Given the description of an element on the screen output the (x, y) to click on. 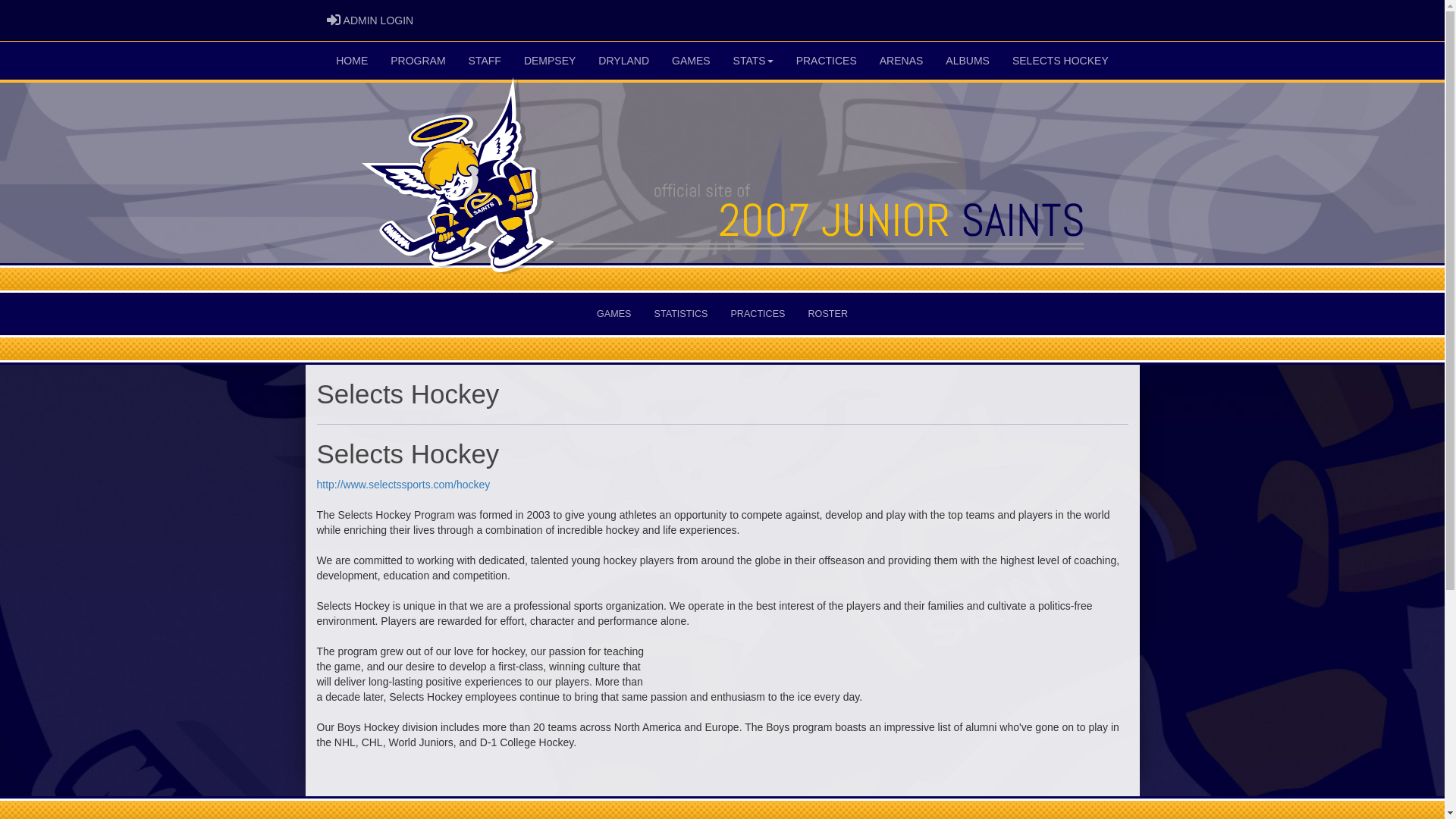
ROSTER Element type: text (827, 313)
DRYLAND Element type: text (623, 60)
STATISTICS Element type: text (681, 313)
ALBUMS Element type: text (967, 60)
HOME Element type: text (351, 60)
STATS Element type: text (752, 60)
Login Page Element type: hover (333, 19)
http://www.selectssports.com/hockey Element type: text (403, 484)
STAFF Element type: text (484, 60)
LOGIN PAGE
 ADMIN LOGIN
ADMIN LOGIN Element type: text (369, 20)
GAMES Element type: text (614, 313)
GAMES Element type: text (690, 60)
DEMPSEY Element type: text (549, 60)
SELECTS HOCKEY Element type: text (1060, 60)
PRACTICES Element type: text (826, 60)
PRACTICES Element type: text (757, 313)
PROGRAM Element type: text (417, 60)
ARENAS Element type: text (901, 60)
